Given the description of an element on the screen output the (x, y) to click on. 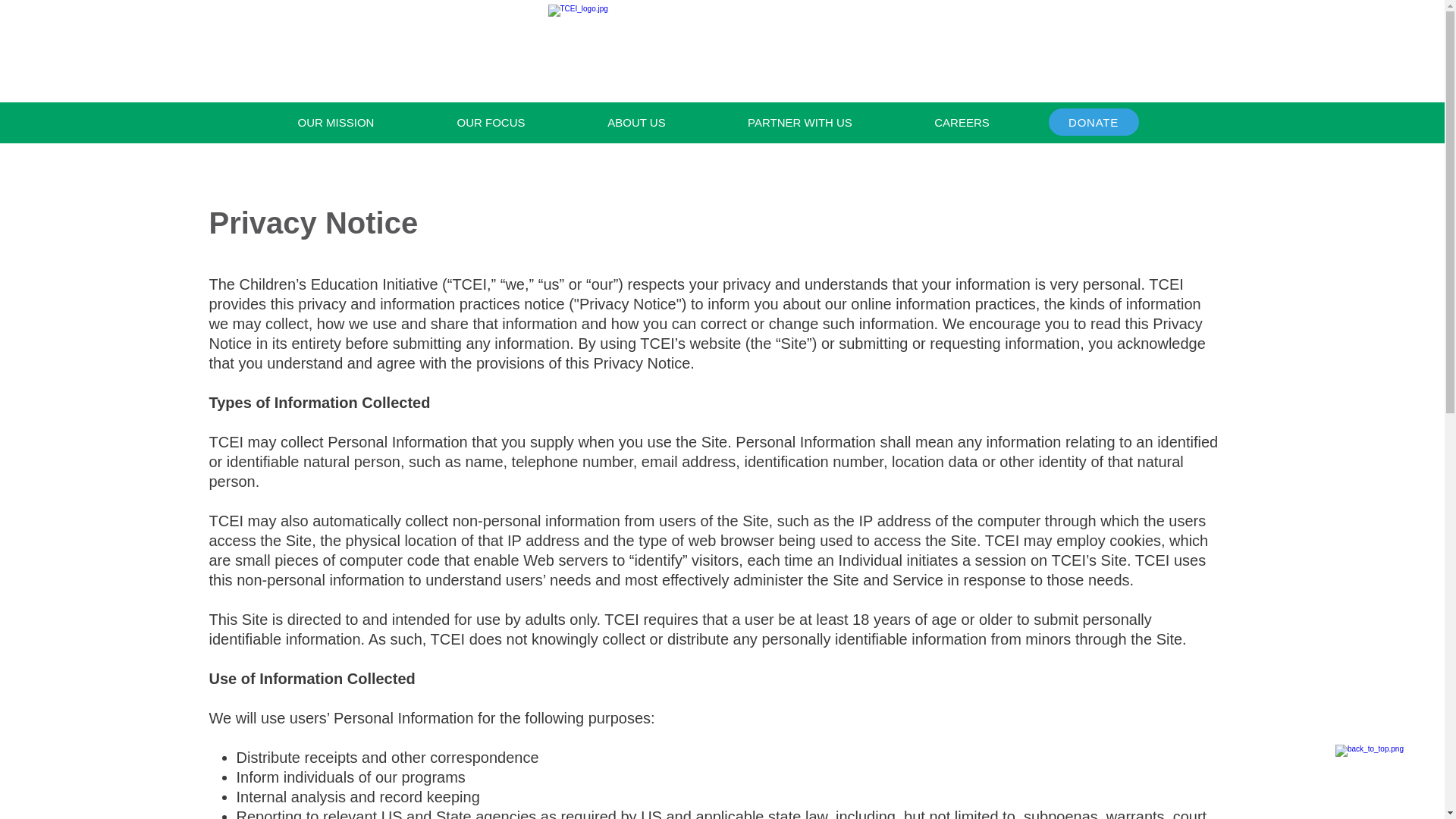
OUR FOCUS (490, 122)
OUR MISSION (335, 122)
ABOUT US (636, 122)
DONATE (1093, 121)
PARTNER WITH US (799, 122)
CAREERS (961, 122)
